Given the description of an element on the screen output the (x, y) to click on. 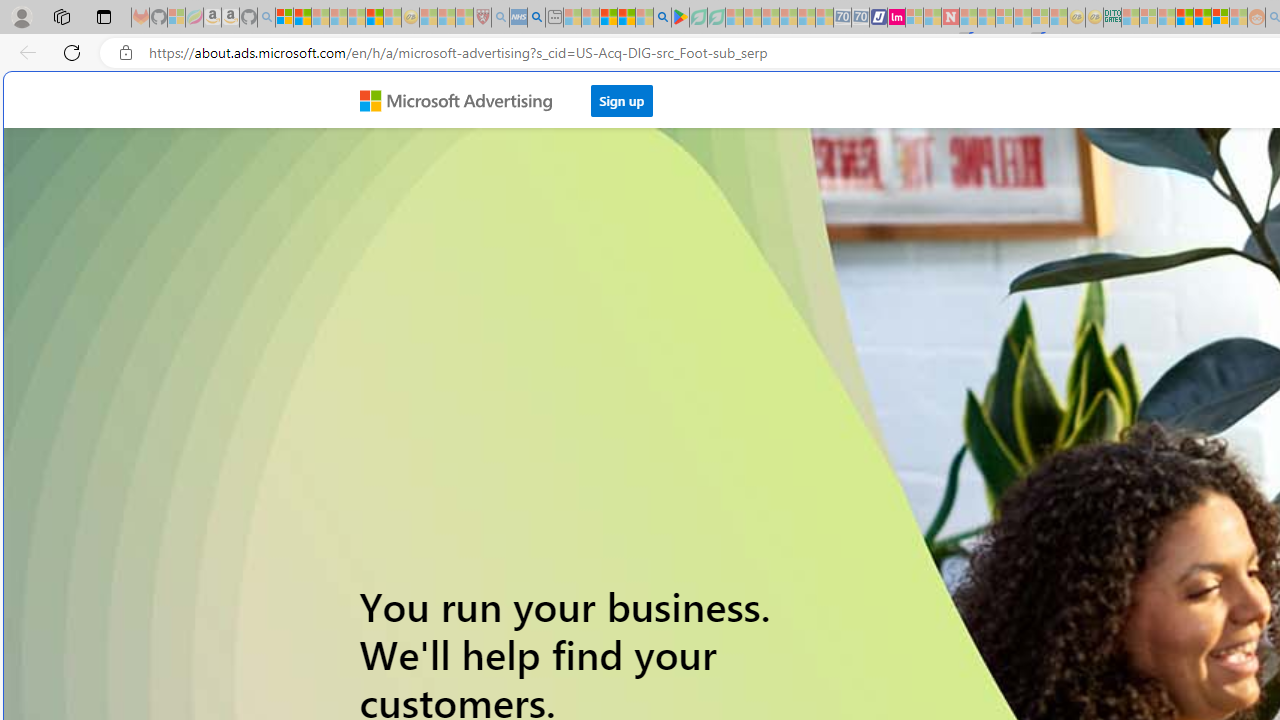
Bluey: Let's Play! - Apps on Google Play (680, 17)
utah sues federal government - Search (536, 17)
